Given the description of an element on the screen output the (x, y) to click on. 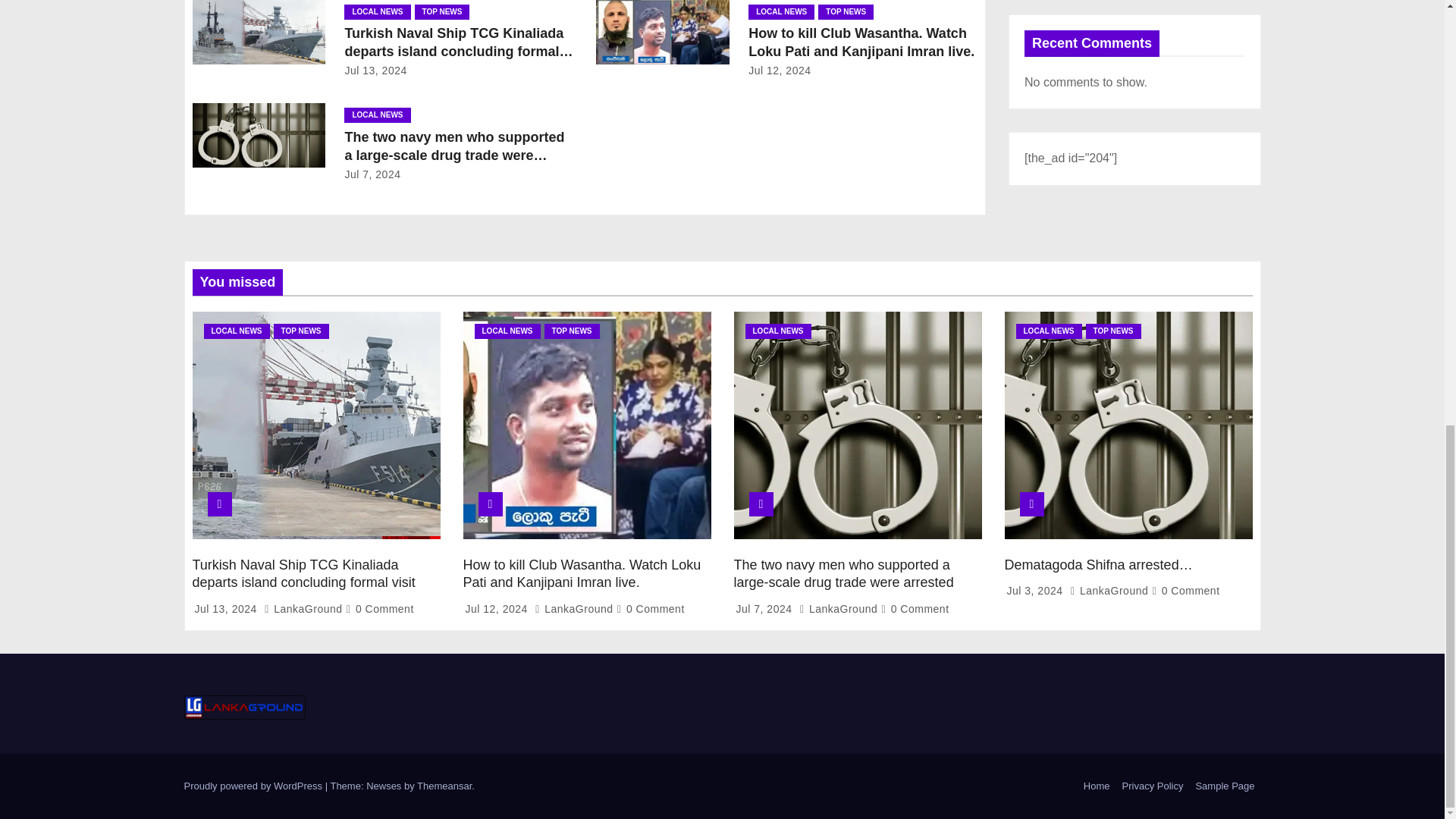
Jul 12, 2024 (779, 70)
LOCAL NEWS (376, 11)
LOCAL NEWS (376, 114)
TOP NEWS (845, 11)
Jul 13, 2024 (374, 70)
Home (1096, 786)
TOP NEWS (440, 11)
LOCAL NEWS (780, 11)
